Given the description of an element on the screen output the (x, y) to click on. 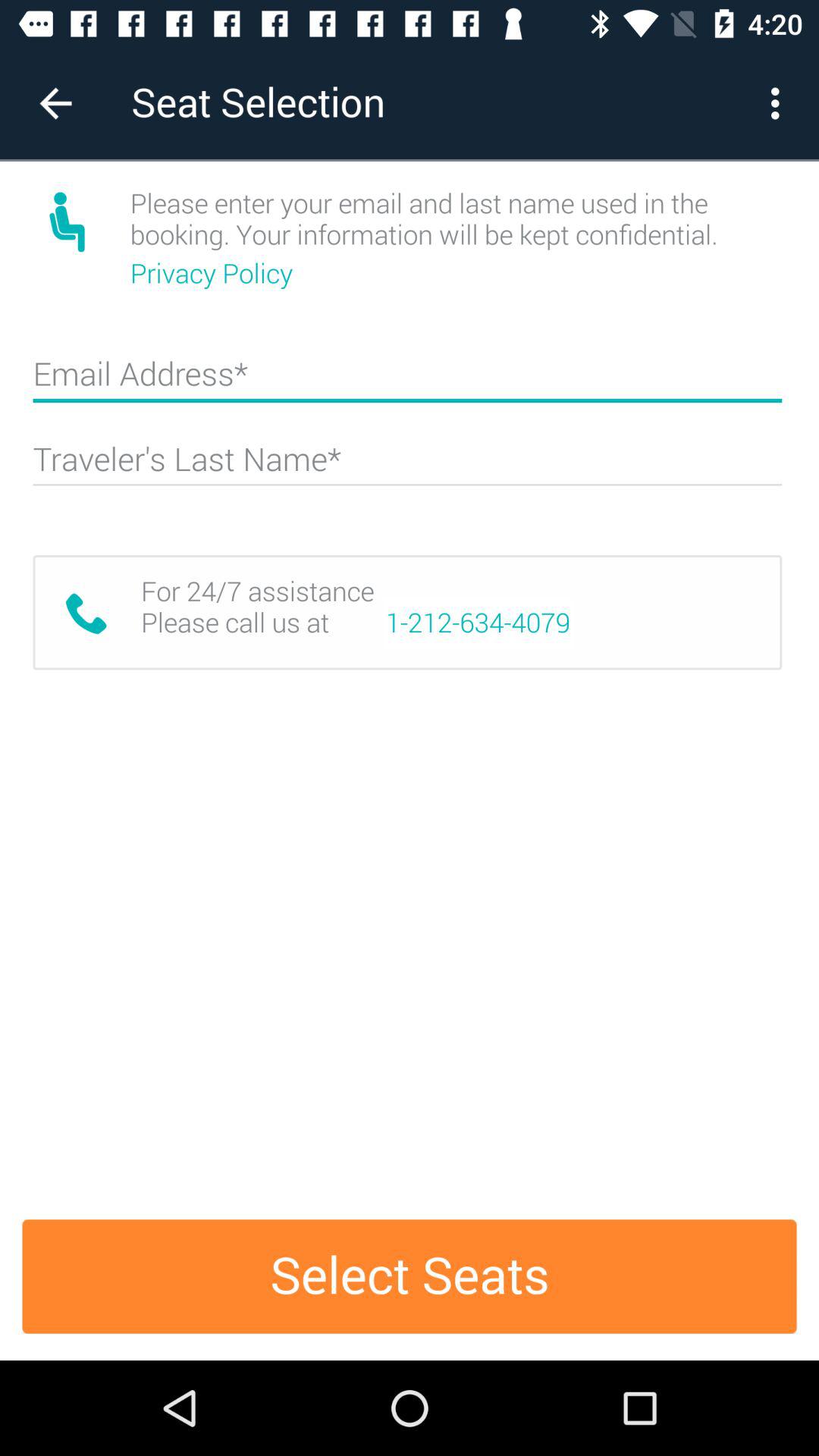
open the icon next to the seat selection item (779, 103)
